Given the description of an element on the screen output the (x, y) to click on. 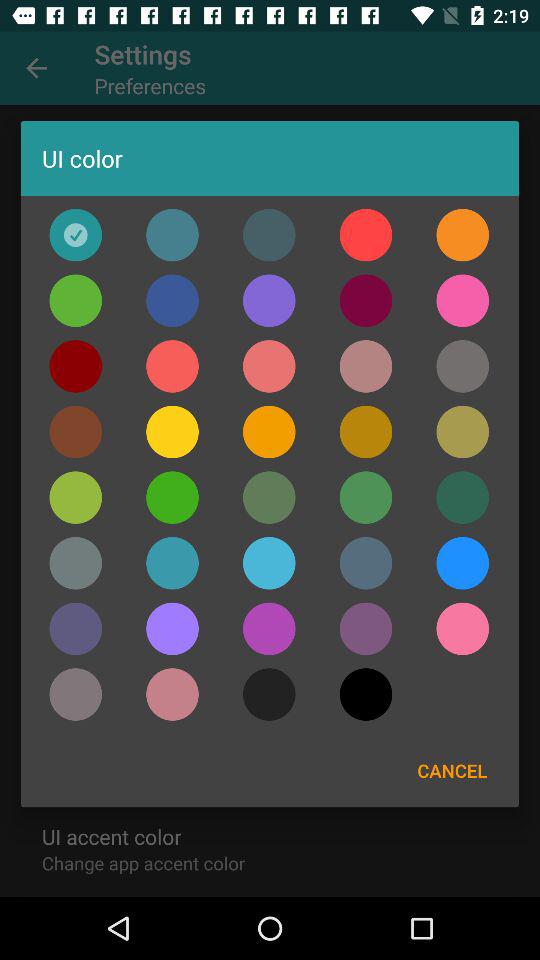
select color (75, 366)
